Given the description of an element on the screen output the (x, y) to click on. 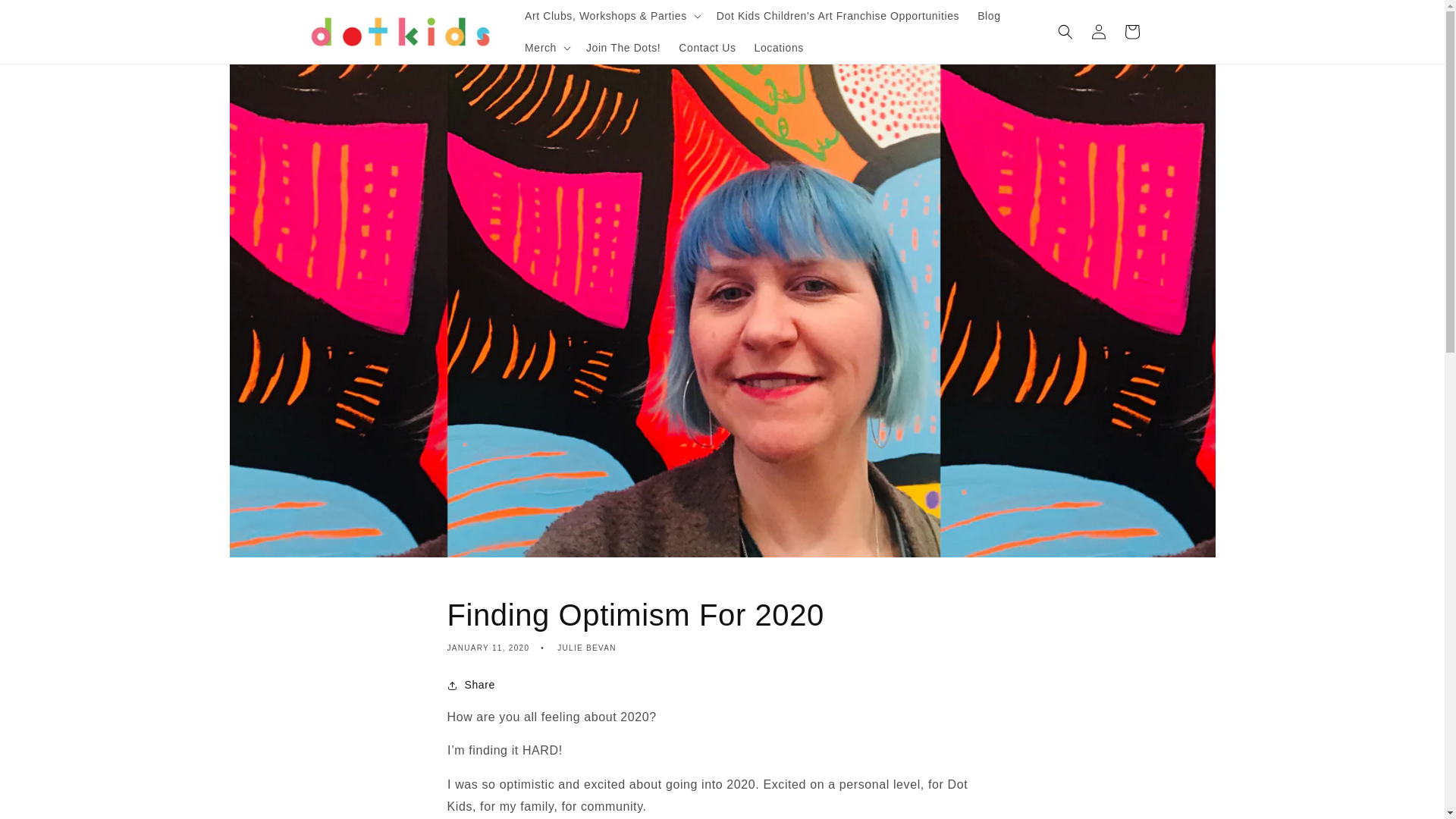
Log in (1098, 31)
Dot Kids Children's Art Franchise Opportunities (837, 15)
Contact Us (706, 47)
Locations (778, 47)
Cart (1131, 31)
Blog (988, 15)
Join The Dots! (622, 47)
Skip to content (45, 17)
